Given the description of an element on the screen output the (x, y) to click on. 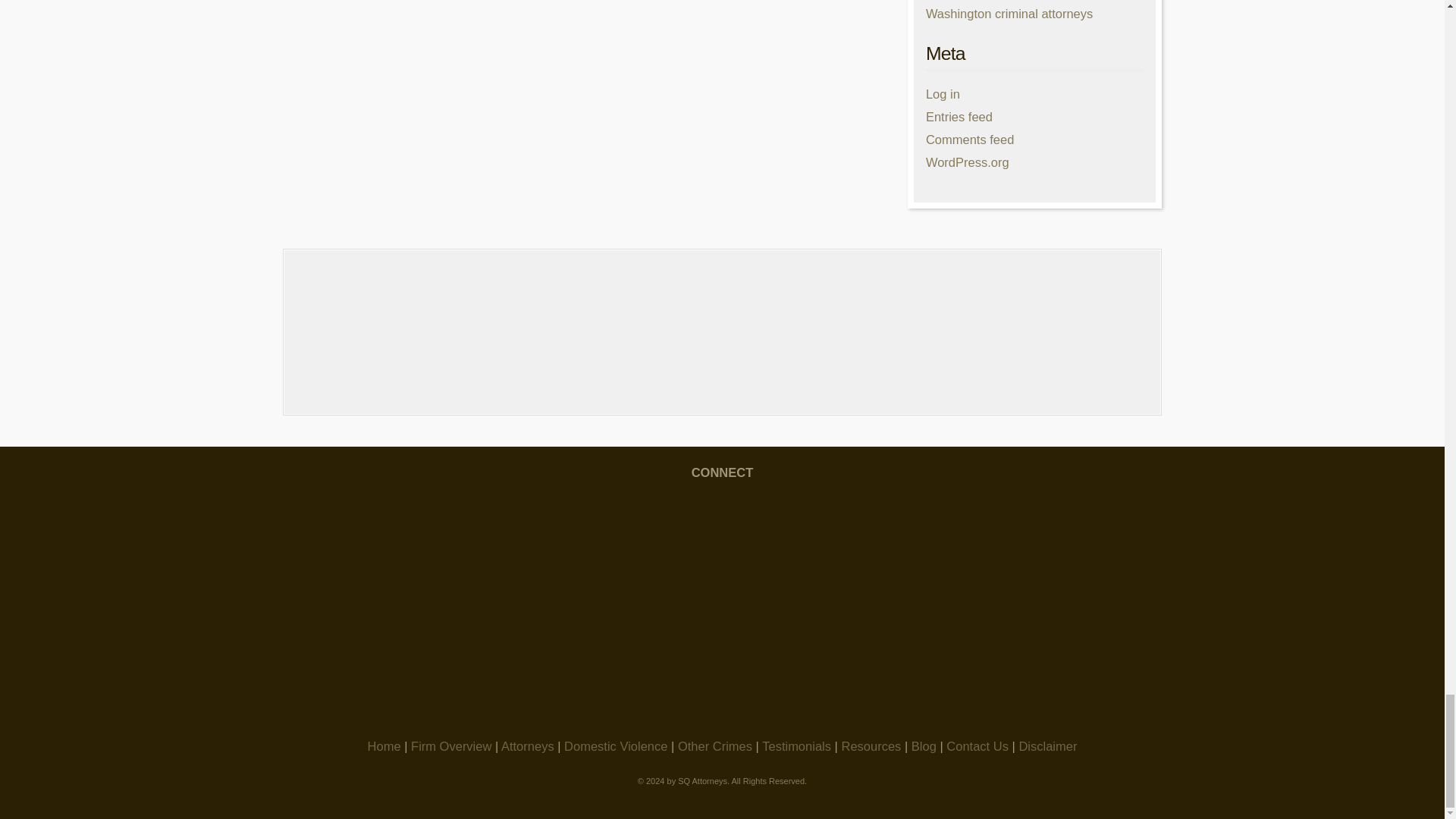
Facebook (482, 539)
Twitter (960, 539)
Instagram (721, 539)
Tumblr (721, 657)
Simple WordPress Themes (1133, 791)
